Given the description of an element on the screen output the (x, y) to click on. 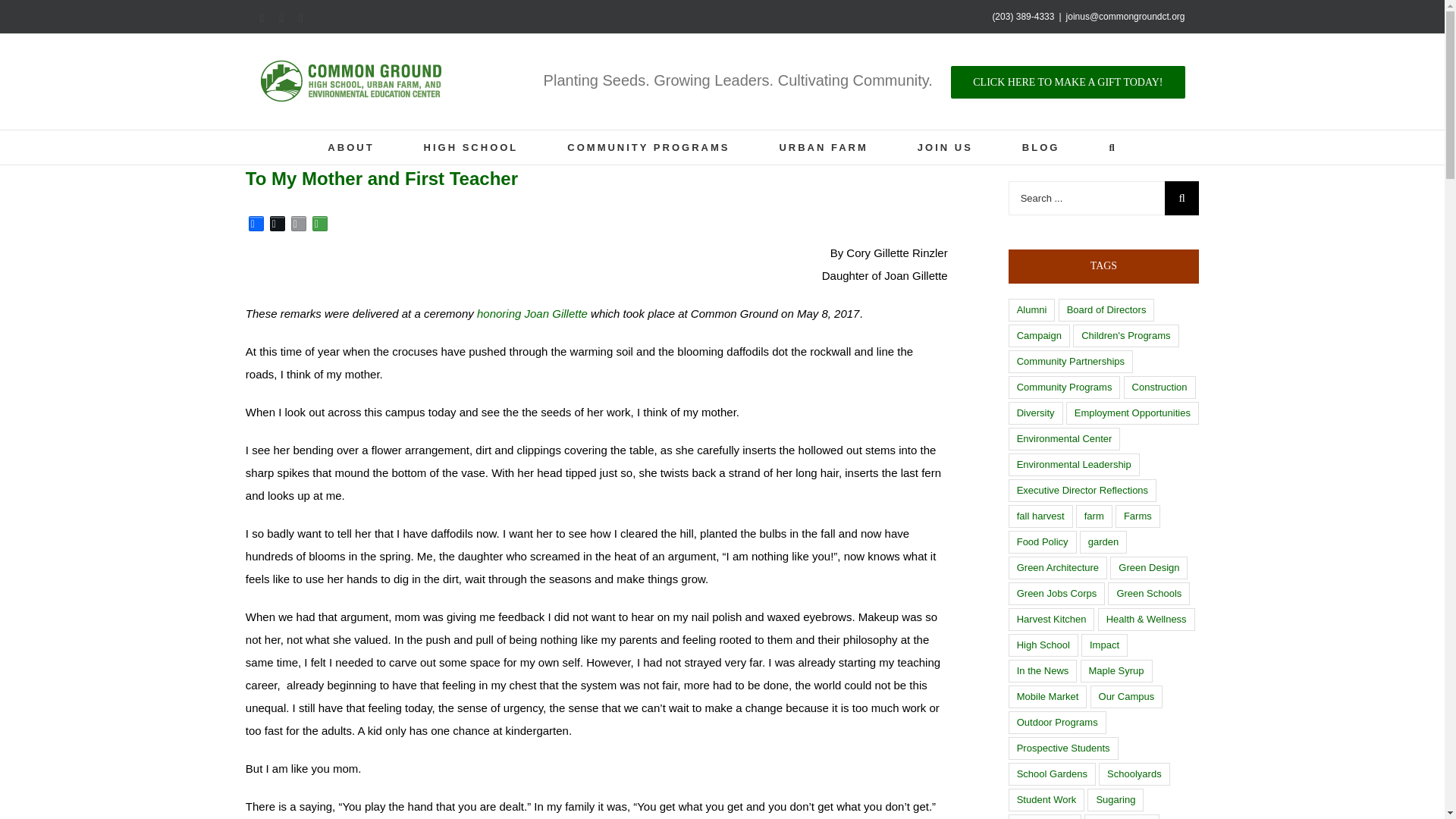
Facebook (470, 147)
CLICK HERE TO MAKE A GIFT TODAY! (256, 223)
Email This (1067, 81)
More Options (944, 147)
